Given the description of an element on the screen output the (x, y) to click on. 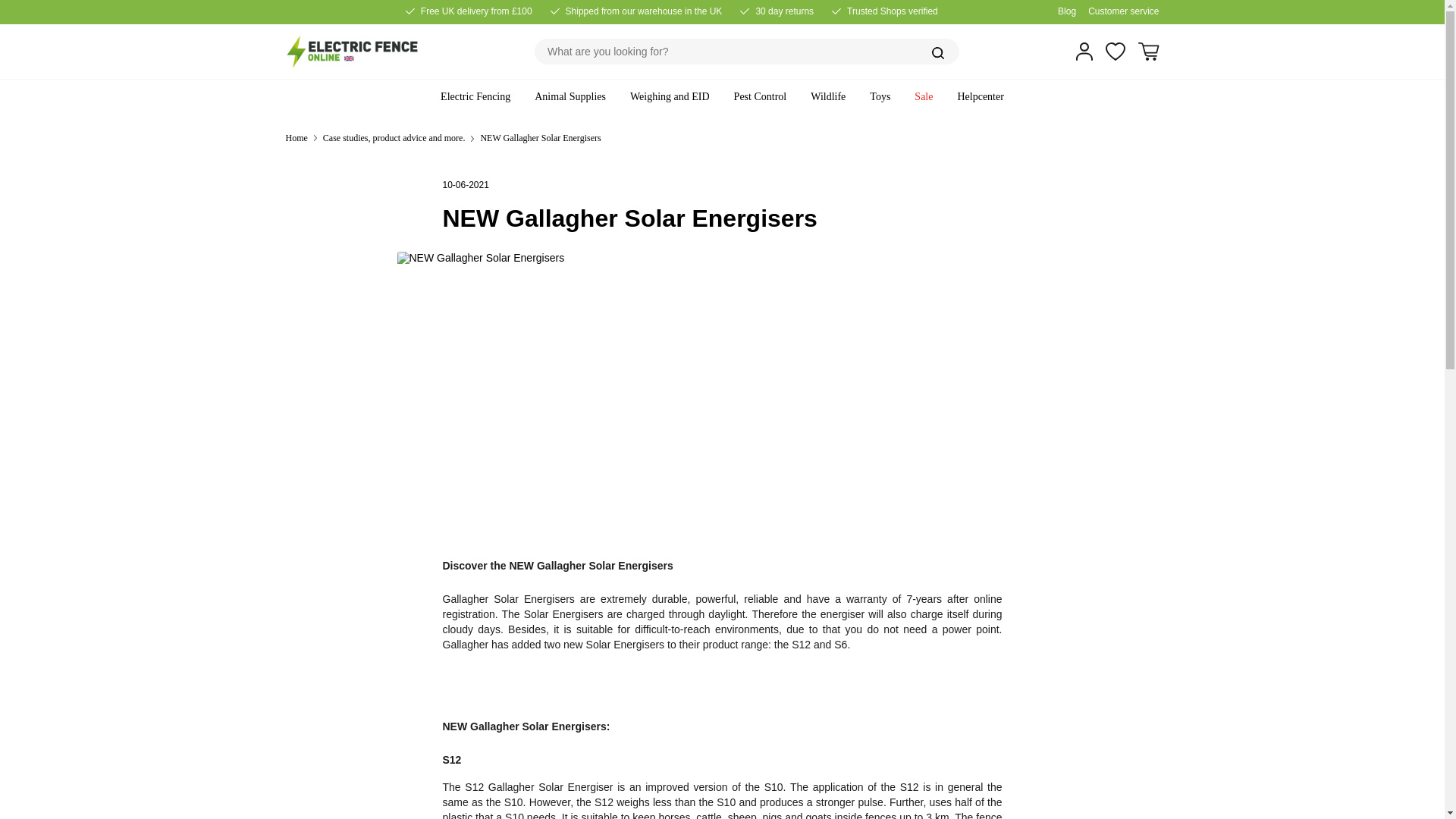
Electric Fencing (476, 96)
Blog (1066, 11)
Customer service (1122, 11)
Customer service (1122, 11)
Blog (1066, 11)
